Given the description of an element on the screen output the (x, y) to click on. 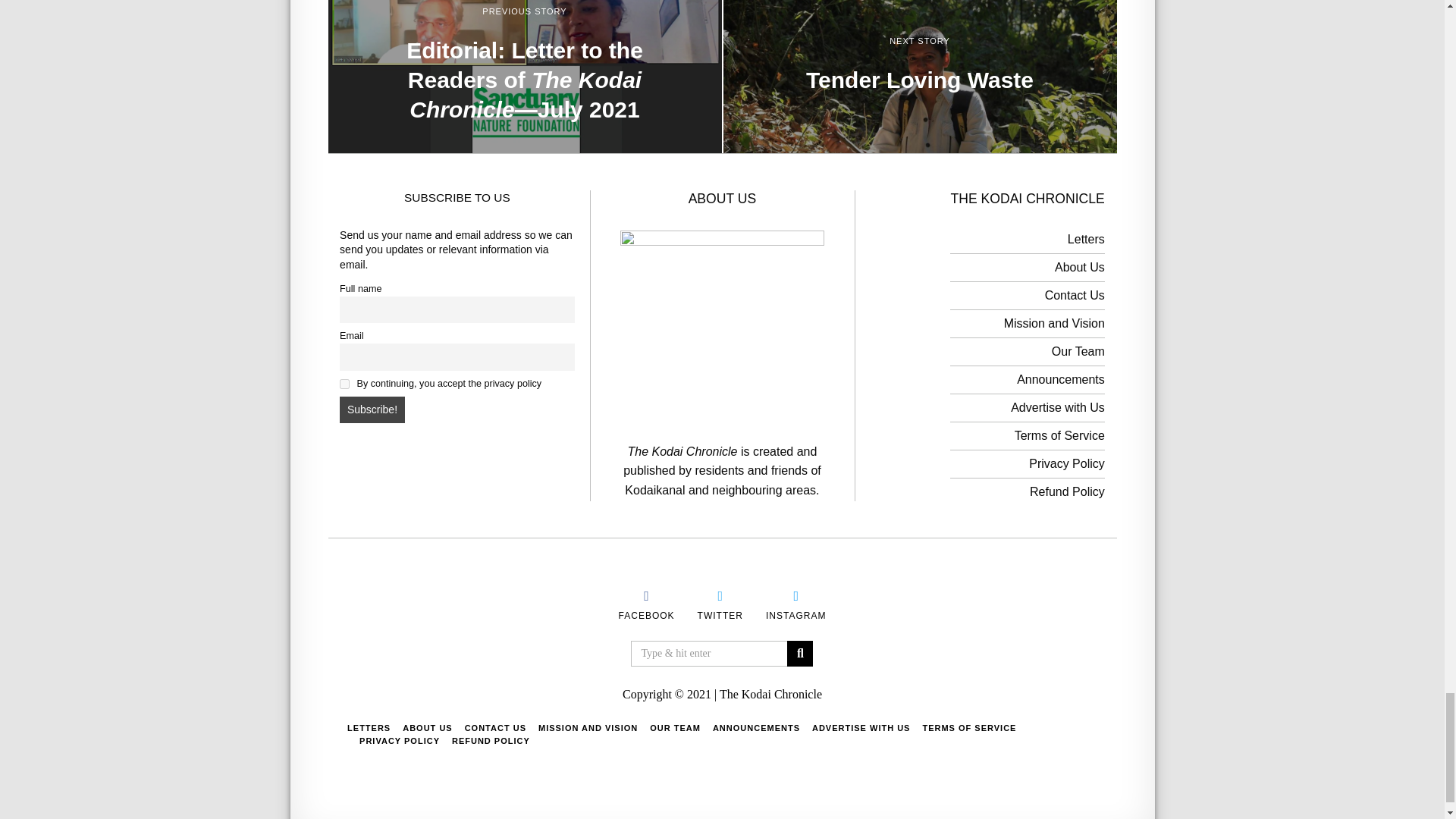
on (344, 384)
Twitter (720, 615)
Go (799, 653)
Instagram (795, 615)
Instagram (795, 596)
Twitter (720, 596)
Subscribe! (371, 410)
Facebook (646, 596)
Facebook (646, 615)
